Given the description of an element on the screen output the (x, y) to click on. 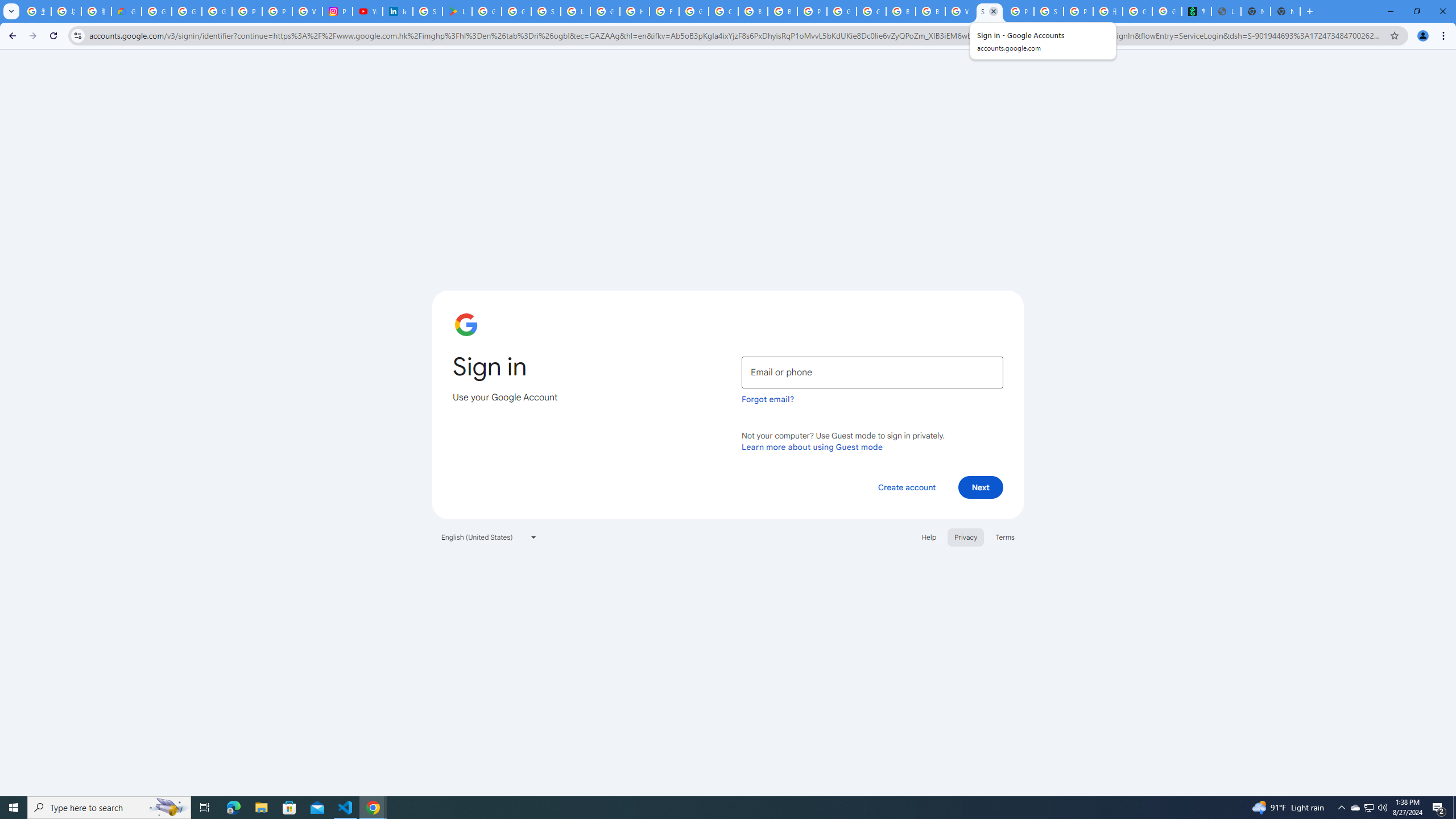
Browse Chrome as a guest - Computer - Google Chrome Help (753, 11)
Sign in - Google Accounts (426, 11)
Google Workspace - Specific Terms (515, 11)
Learn more about using Guest mode (812, 446)
